Given the description of an element on the screen output the (x, y) to click on. 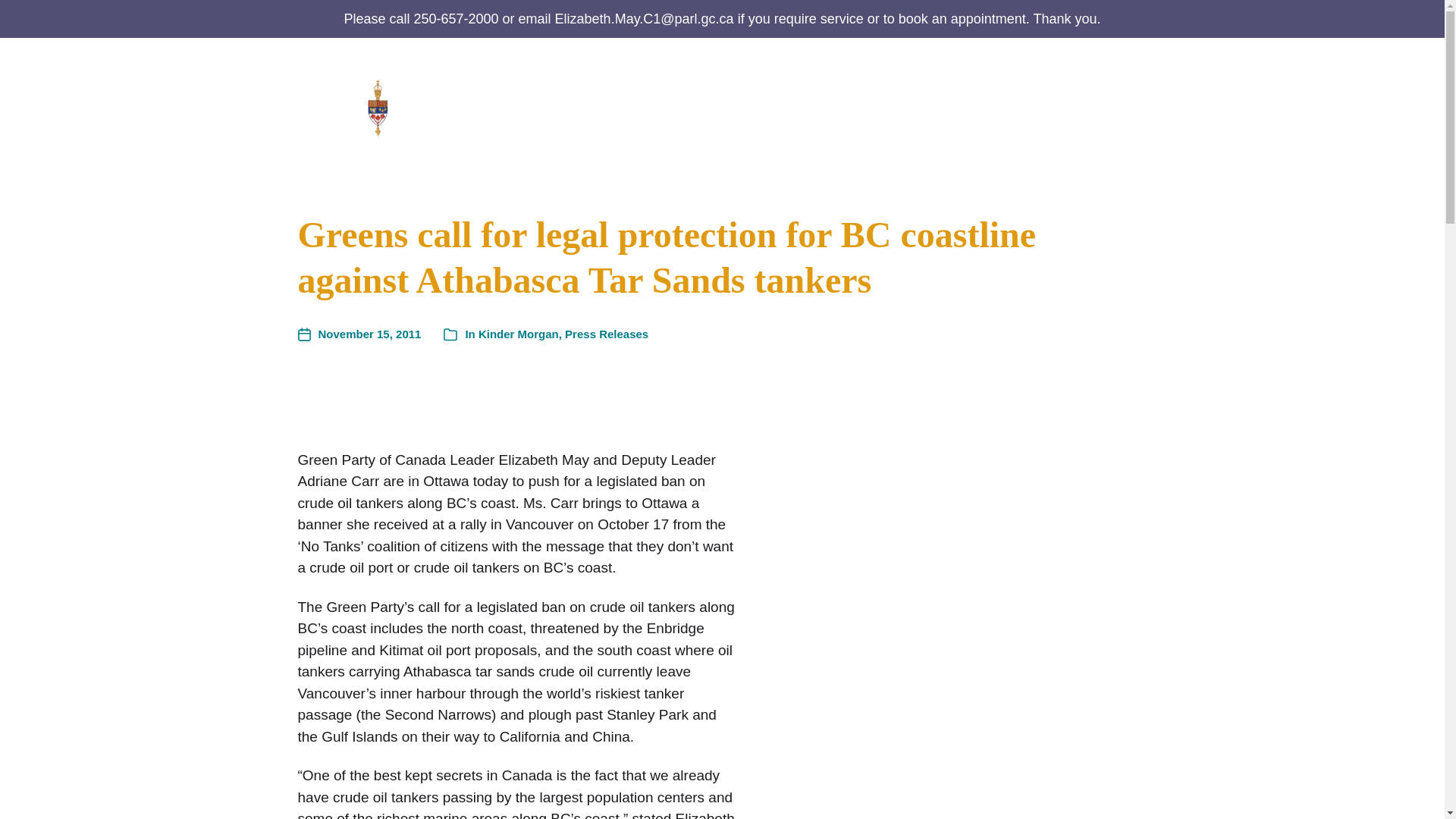
Publications (844, 106)
About (638, 106)
FR (1137, 118)
Issues (1028, 106)
EN (1136, 90)
Parliament (936, 106)
Can We Help? (722, 106)
